Given the description of an element on the screen output the (x, y) to click on. 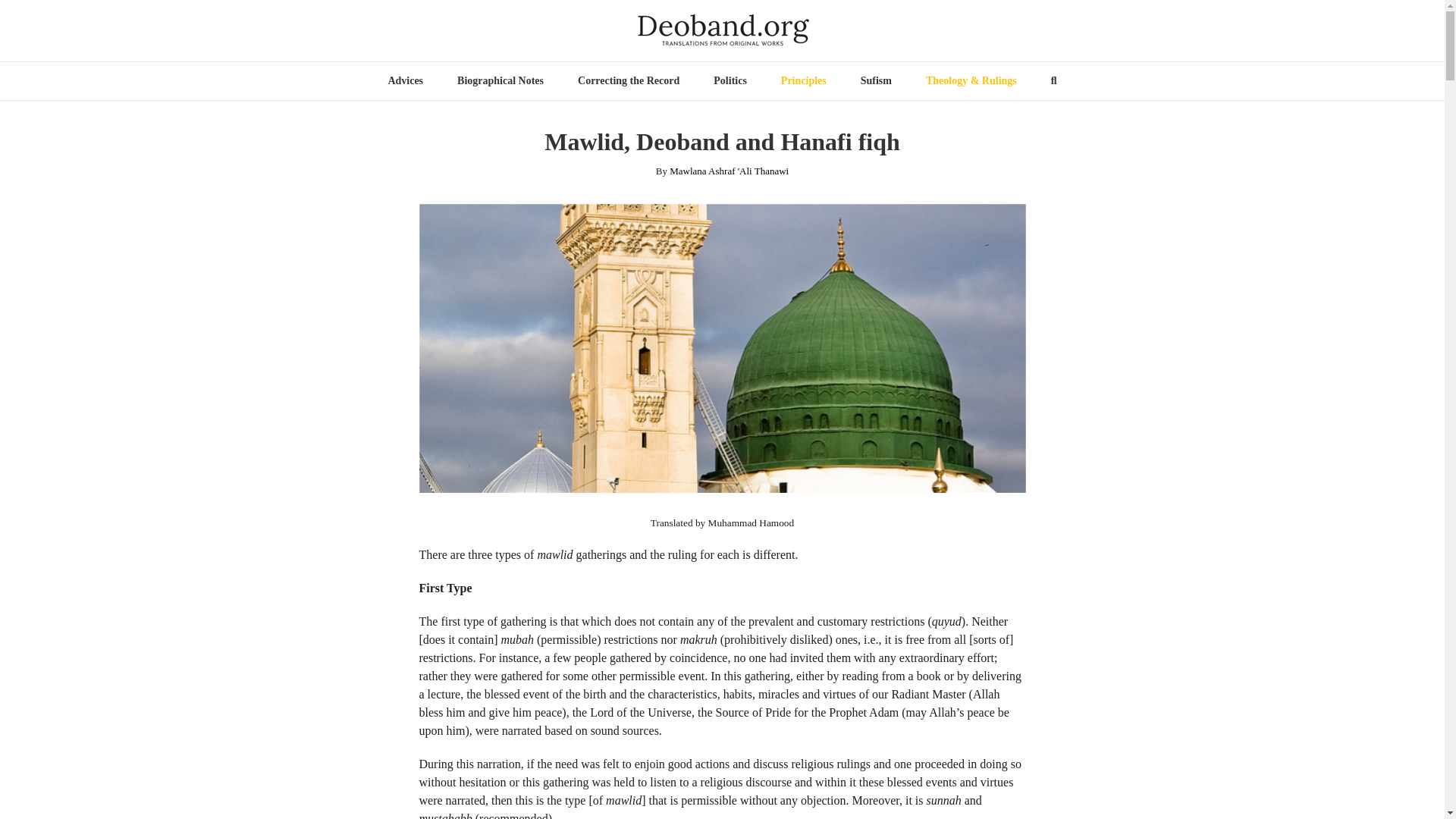
Biographical Notes (500, 80)
Correcting the Record (628, 80)
Advices (405, 80)
Mawlana Ashraf 'Ali Thanawi (729, 170)
Principles (803, 80)
Posts by Mawlana Ashraf 'Ali Thanawi (729, 170)
